Given the description of an element on the screen output the (x, y) to click on. 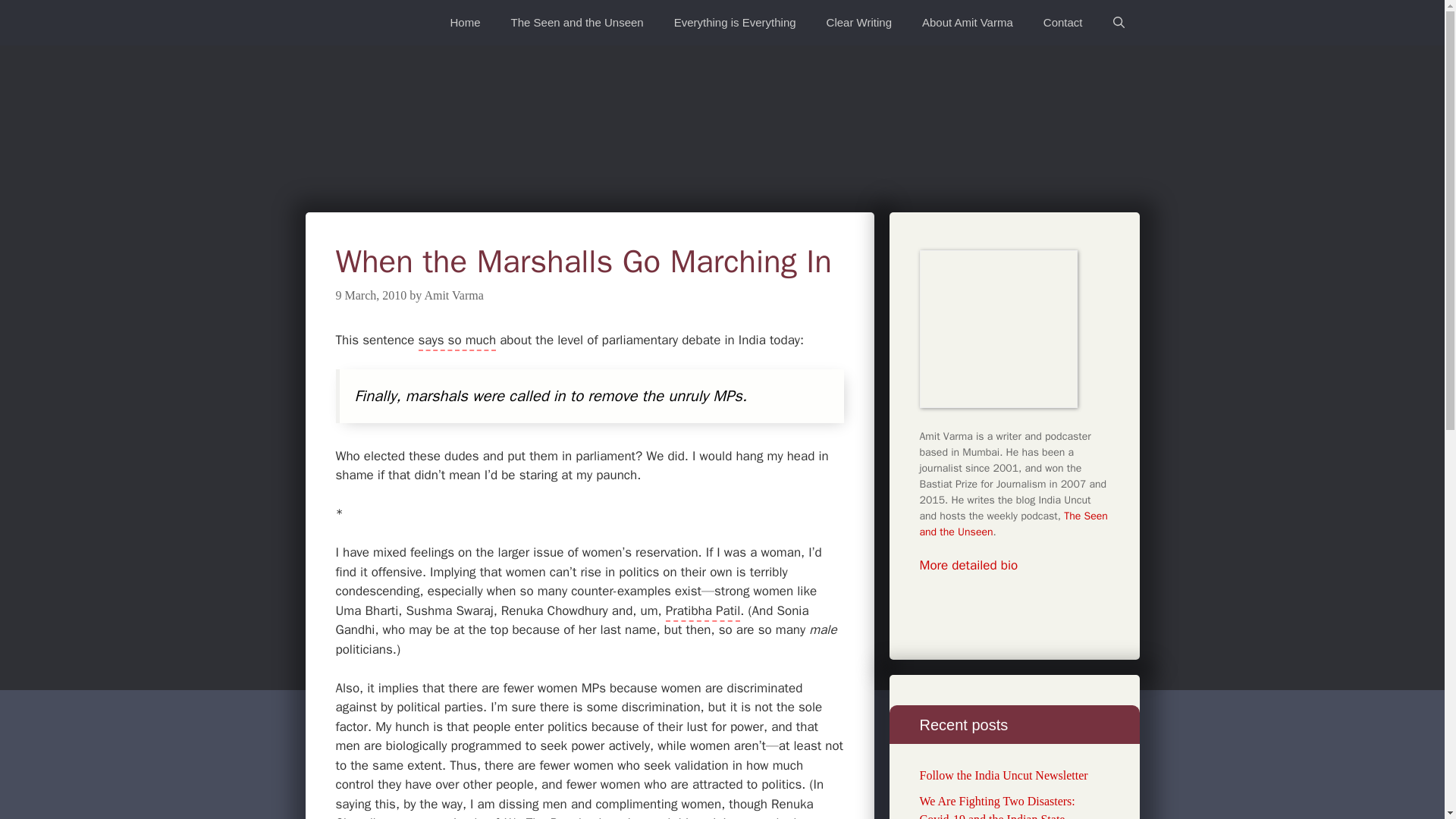
Clear Writing (858, 22)
Home (465, 22)
Women's Bill put to vote in Rajya Sabha amid chaos (457, 341)
says so much (457, 341)
The Seen and the Unseen (1012, 523)
We Are Fighting Two Disasters: Covid-19 and the Indian State (996, 806)
Everything is Everything (734, 22)
Contact (1062, 22)
About Amit Varma (967, 22)
The Seen and the Unseen (577, 22)
